Given the description of an element on the screen output the (x, y) to click on. 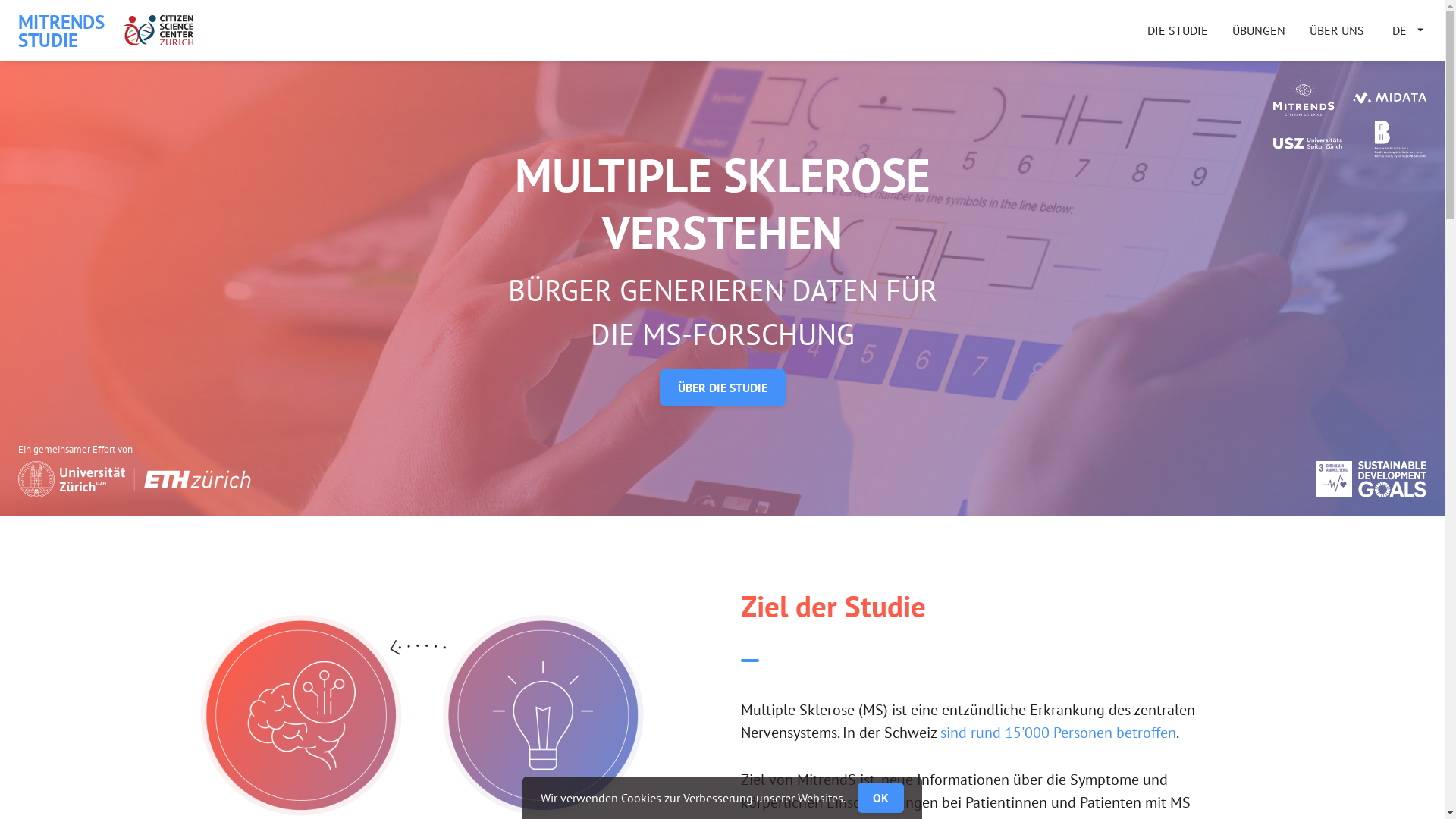
sind rund 15'000 Personen betroffen Element type: text (1058, 732)
OK Element type: text (880, 797)
MITRENDS
STUDIE Element type: text (61, 30)
DIE STUDIE Element type: text (1177, 30)
